Given the description of an element on the screen output the (x, y) to click on. 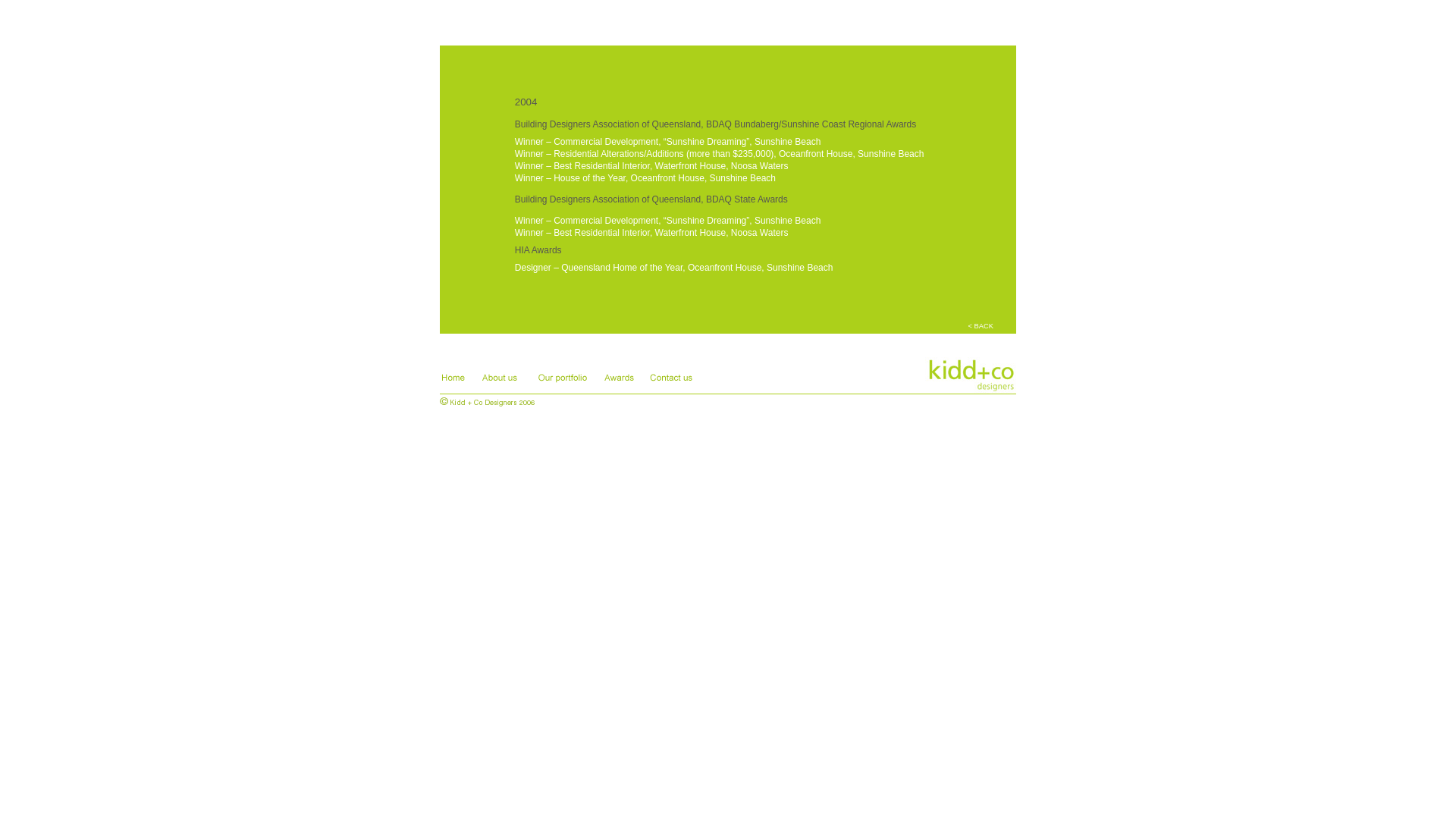
< BACK Element type: text (980, 325)
